Given the description of an element on the screen output the (x, y) to click on. 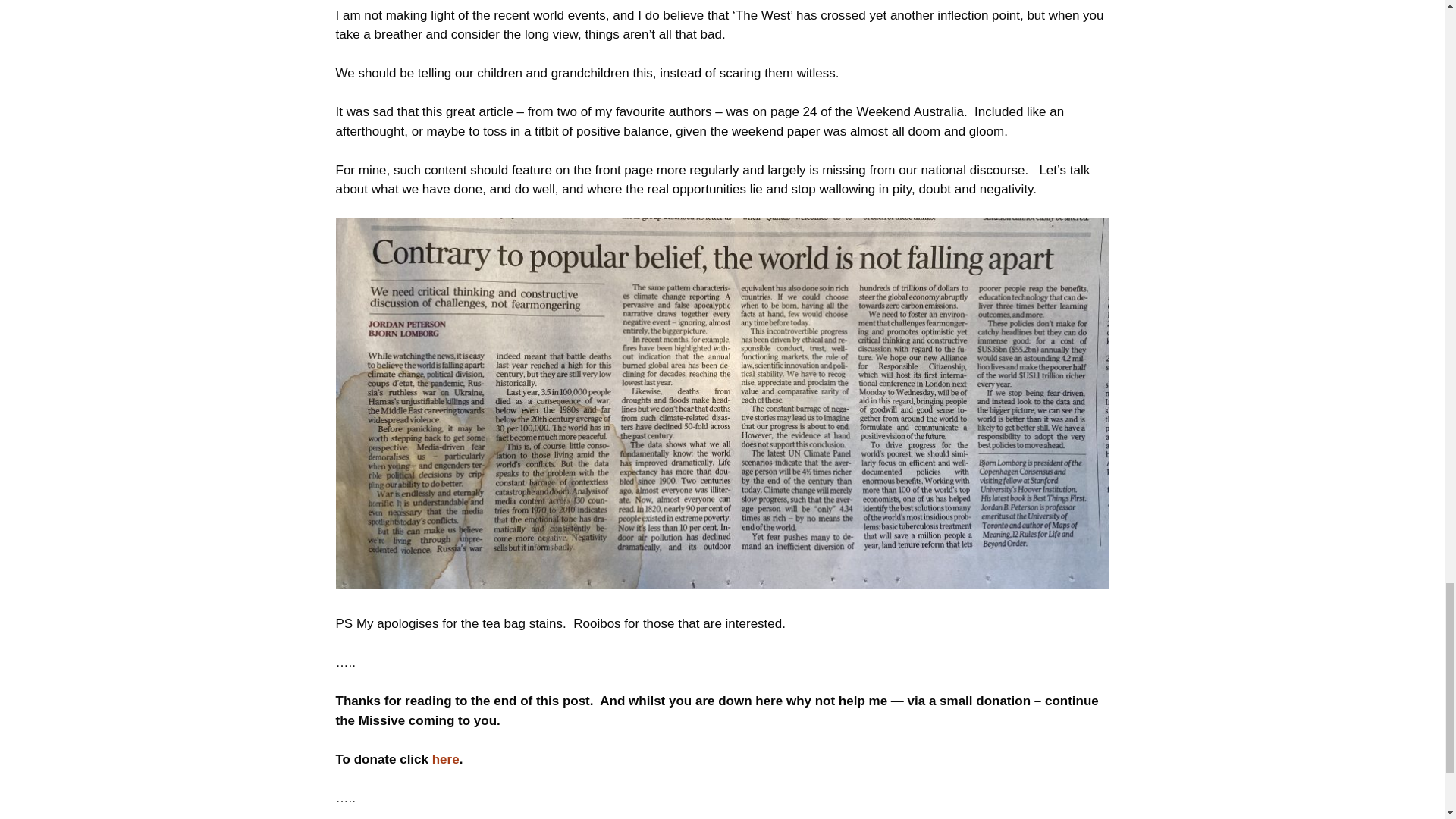
here (446, 759)
